Given the description of an element on the screen output the (x, y) to click on. 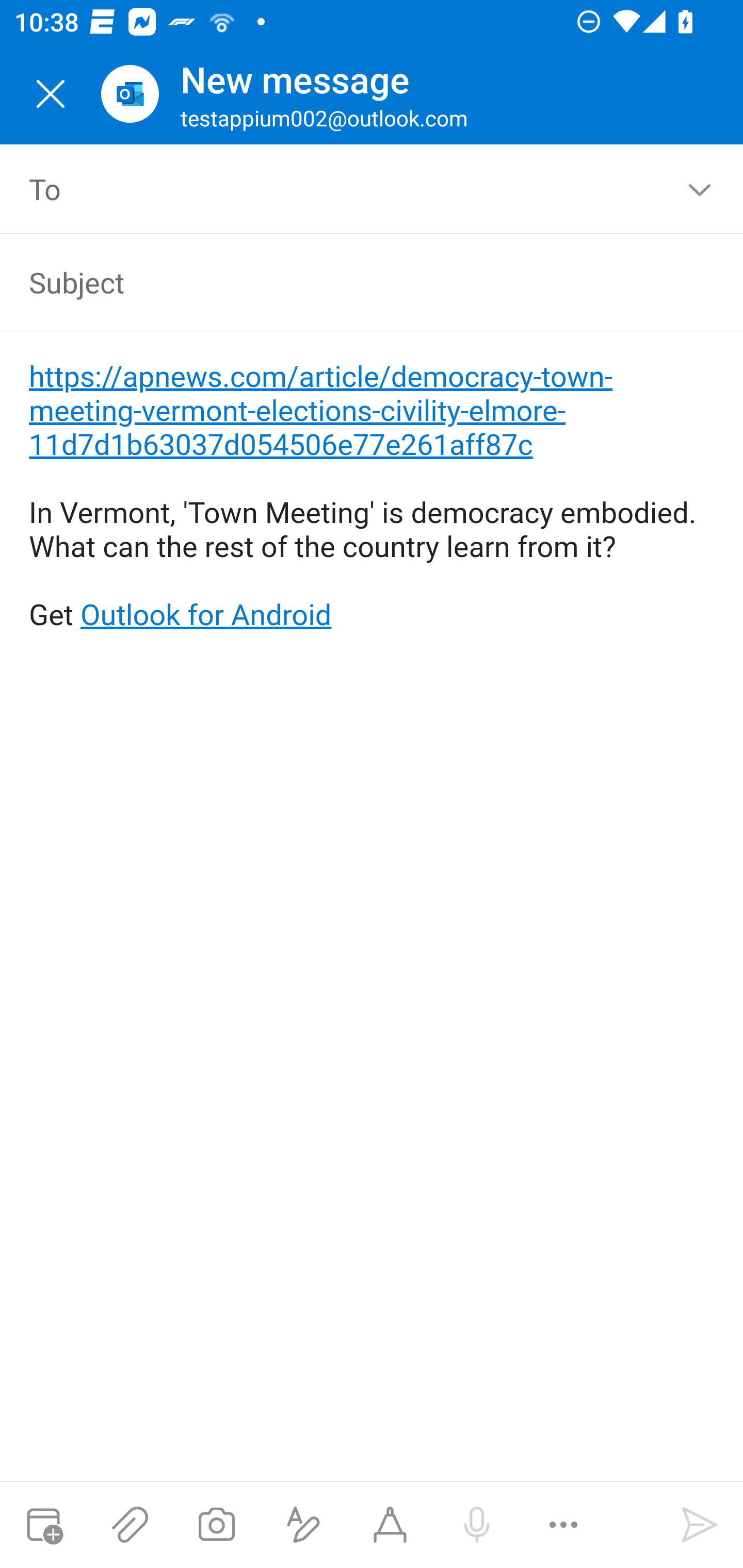
Close (50, 93)
Subject (342, 281)
Attach meeting (43, 1524)
Attach files (129, 1524)
Take a photo (216, 1524)
Show formatting options (303, 1524)
Start Ink compose (389, 1524)
More options (563, 1524)
Send (699, 1524)
